Given the description of an element on the screen output the (x, y) to click on. 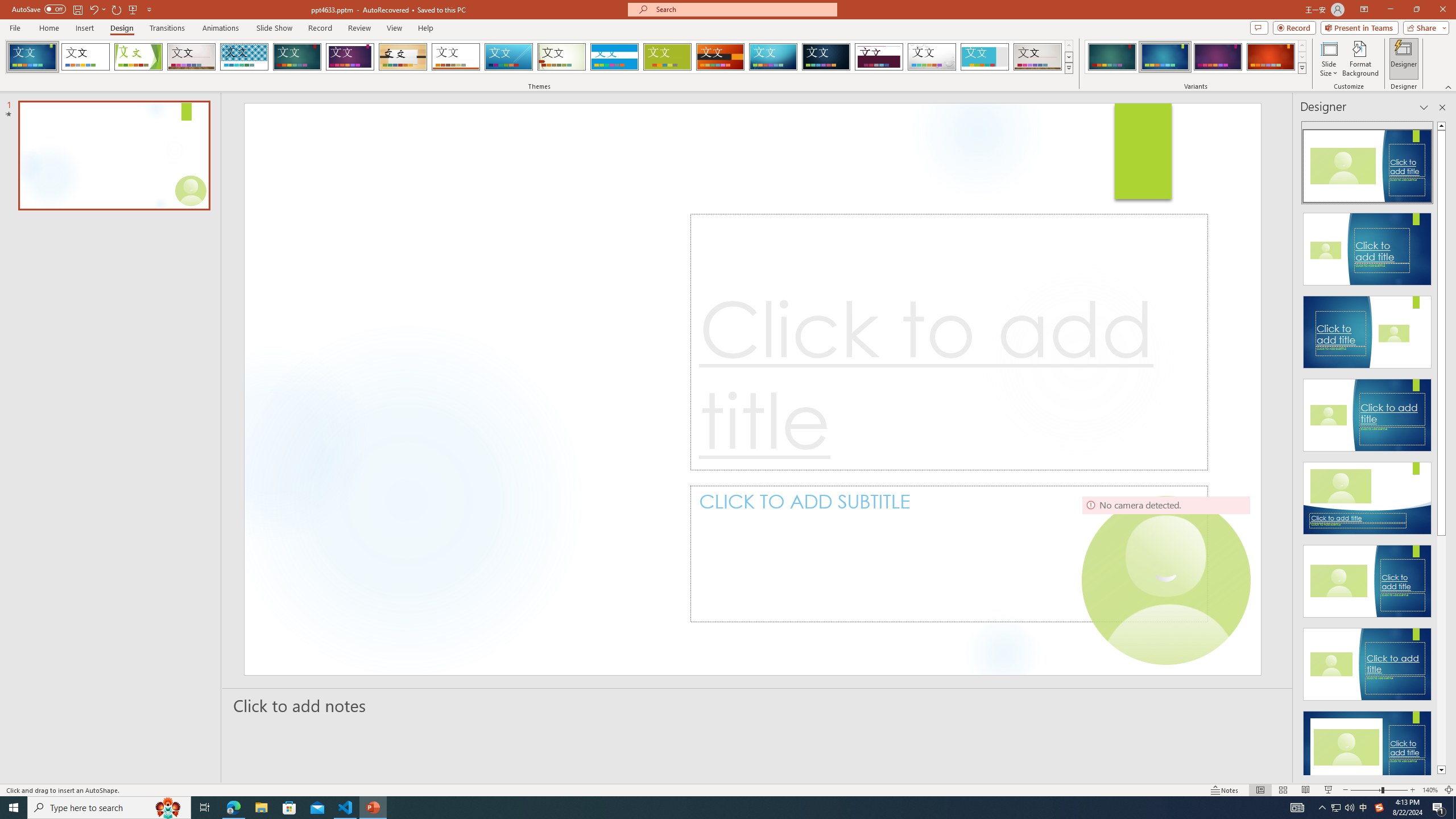
Zoom 140% (1430, 790)
Recommended Design: Design Idea (1366, 162)
Ion Variant 4 (1270, 56)
Facet (138, 56)
Droplet Loading Preview... (931, 56)
Office Theme (85, 56)
Damask Loading Preview... (826, 56)
